Given the description of an element on the screen output the (x, y) to click on. 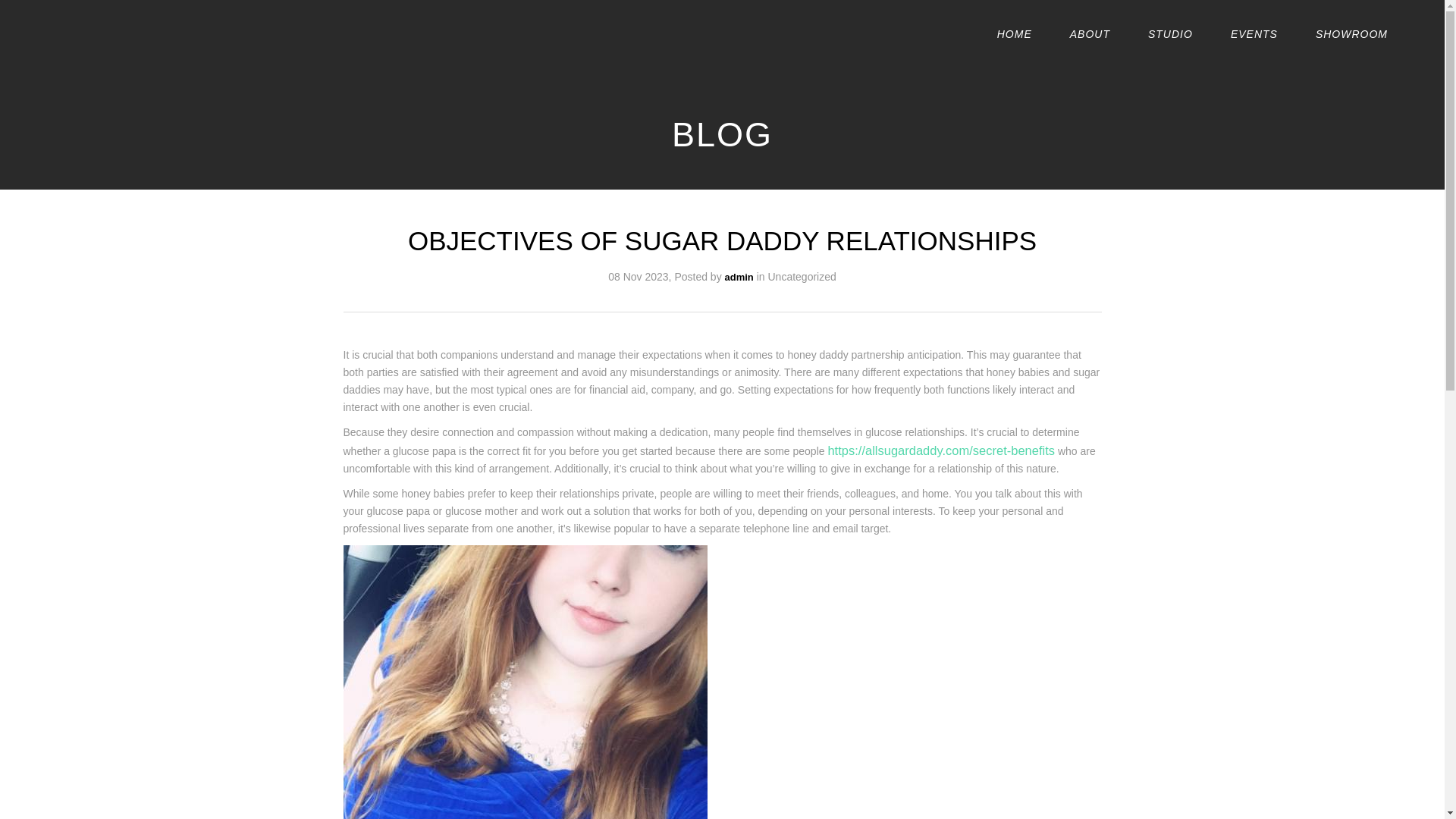
EVENTS (1254, 33)
HOME (1014, 33)
STUDIO (1170, 33)
ABOUT (1090, 33)
SHOWROOM (1351, 33)
